Given the description of an element on the screen output the (x, y) to click on. 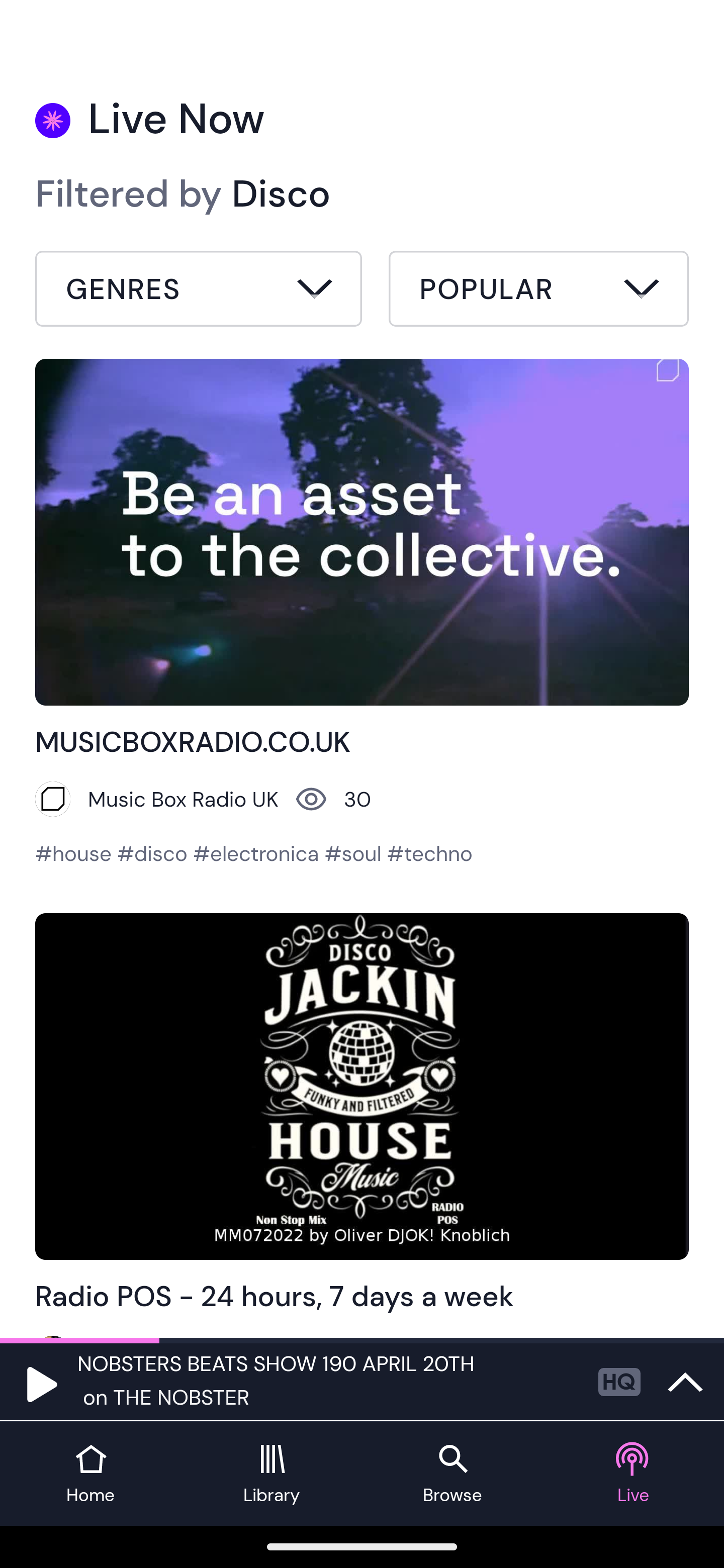
Filter by button Disco (198, 291)
Sort by button Popular (538, 291)
Home tab Home (90, 1473)
Library tab Library (271, 1473)
Browse tab Browse (452, 1473)
Live tab Live (633, 1473)
